Given the description of an element on the screen output the (x, y) to click on. 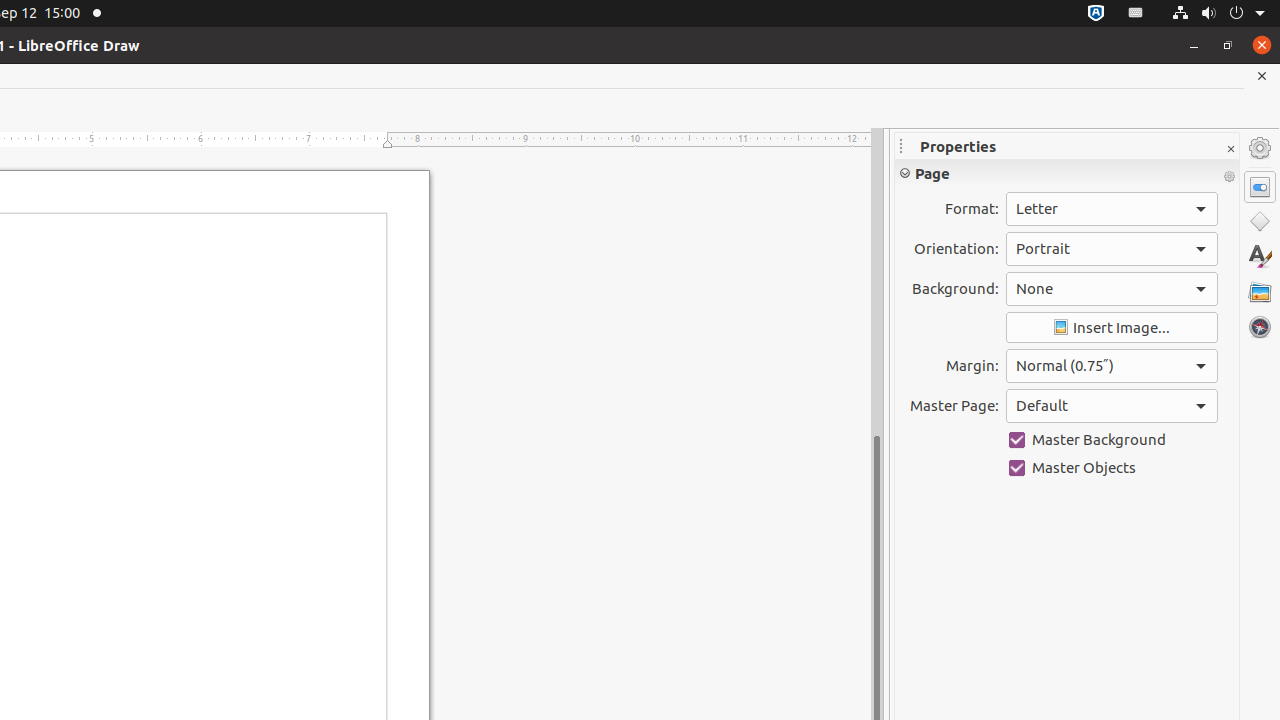
Background: Element type: combo-box (1112, 289)
Close Sidebar Deck Element type: push-button (1230, 149)
Margin: Element type: combo-box (1112, 366)
More Options Element type: push-button (1229, 177)
Insert Image Element type: push-button (1112, 327)
